Given the description of an element on the screen output the (x, y) to click on. 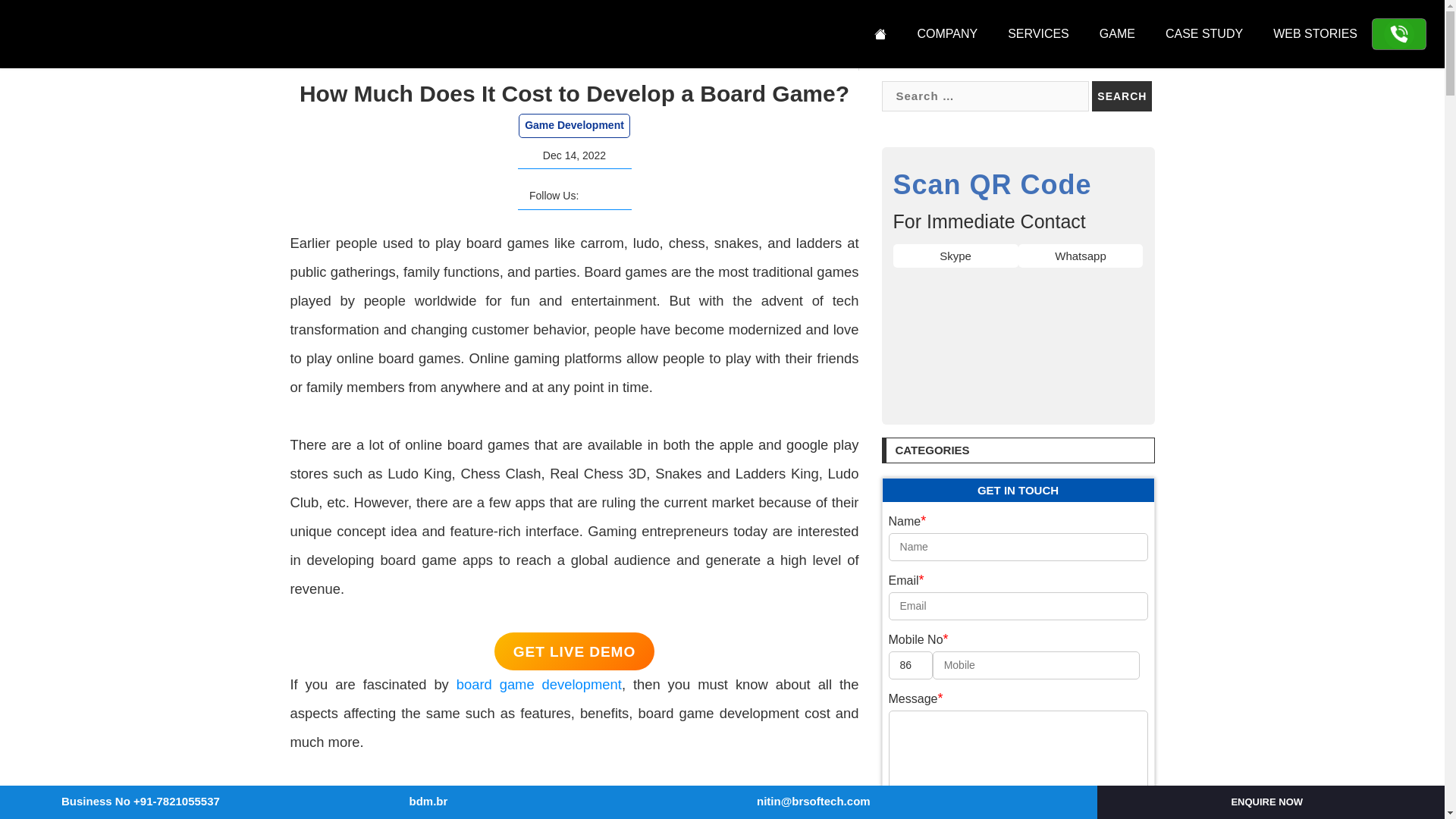
SERVICES (1038, 33)
COMPANY (946, 33)
86 (910, 665)
Send (1018, 816)
